Given the description of an element on the screen output the (x, y) to click on. 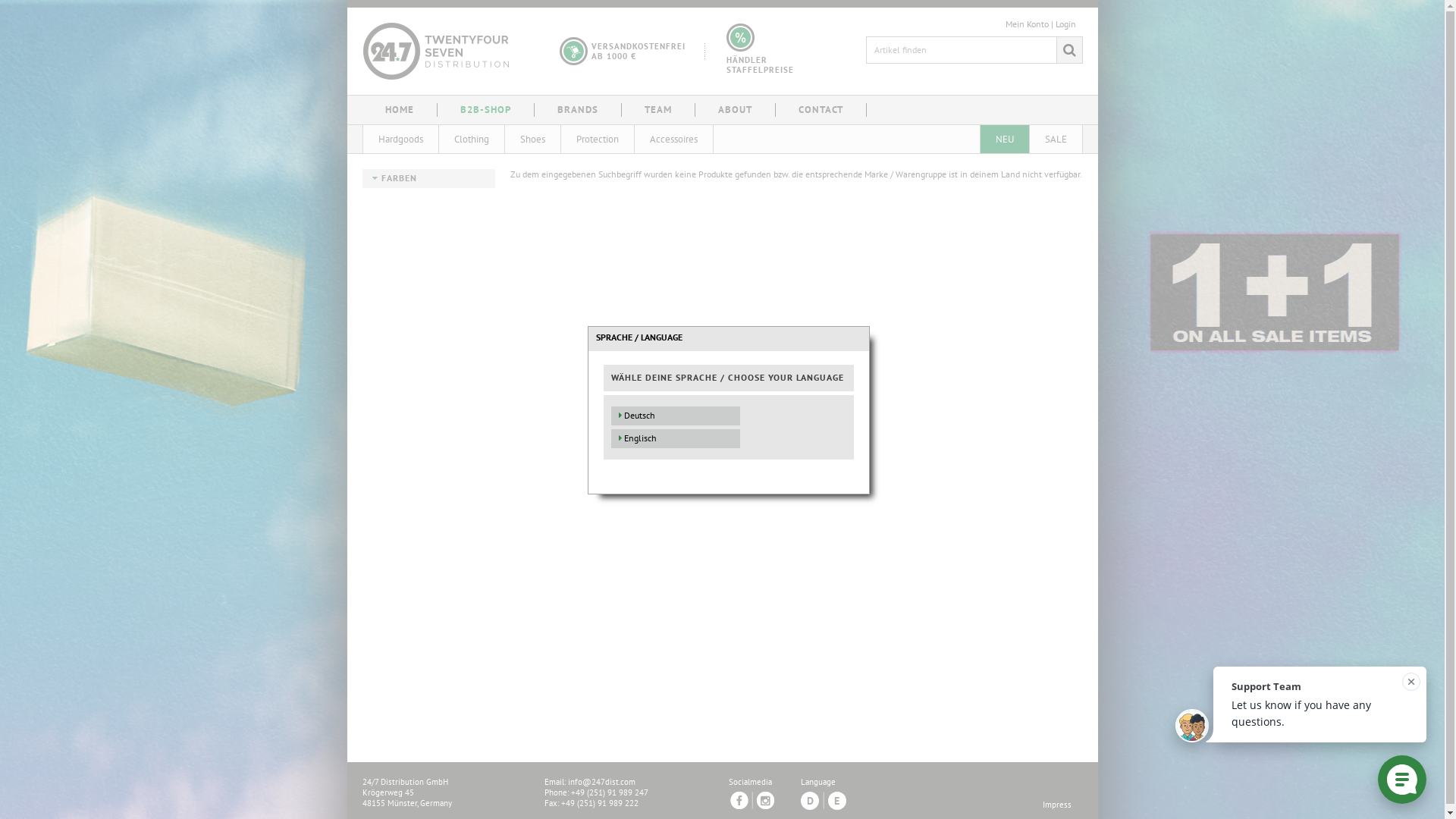
TEAM Element type: text (657, 109)
Englisch Element type: text (728, 438)
B2B-SHOP Element type: text (484, 109)
Hardgoods Element type: text (399, 139)
SALE Element type: text (1055, 139)
Accessoires Element type: text (672, 139)
Deutsch Element type: text (728, 415)
CONTACT Element type: text (819, 109)
Login Element type: text (1065, 23)
NEU Element type: text (1003, 139)
Protection Element type: text (597, 139)
Mein Konto Element type: text (1026, 23)
Messenger button Element type: hover (1401, 779)
Message bubble Element type: hover (1300, 710)
Impress Element type: text (1055, 805)
Clothing Element type: text (470, 139)
ABOUT Element type: text (734, 109)
BRANDS Element type: text (576, 109)
HOME Element type: text (399, 109)
Shoes Element type: text (532, 139)
